Given the description of an element on the screen output the (x, y) to click on. 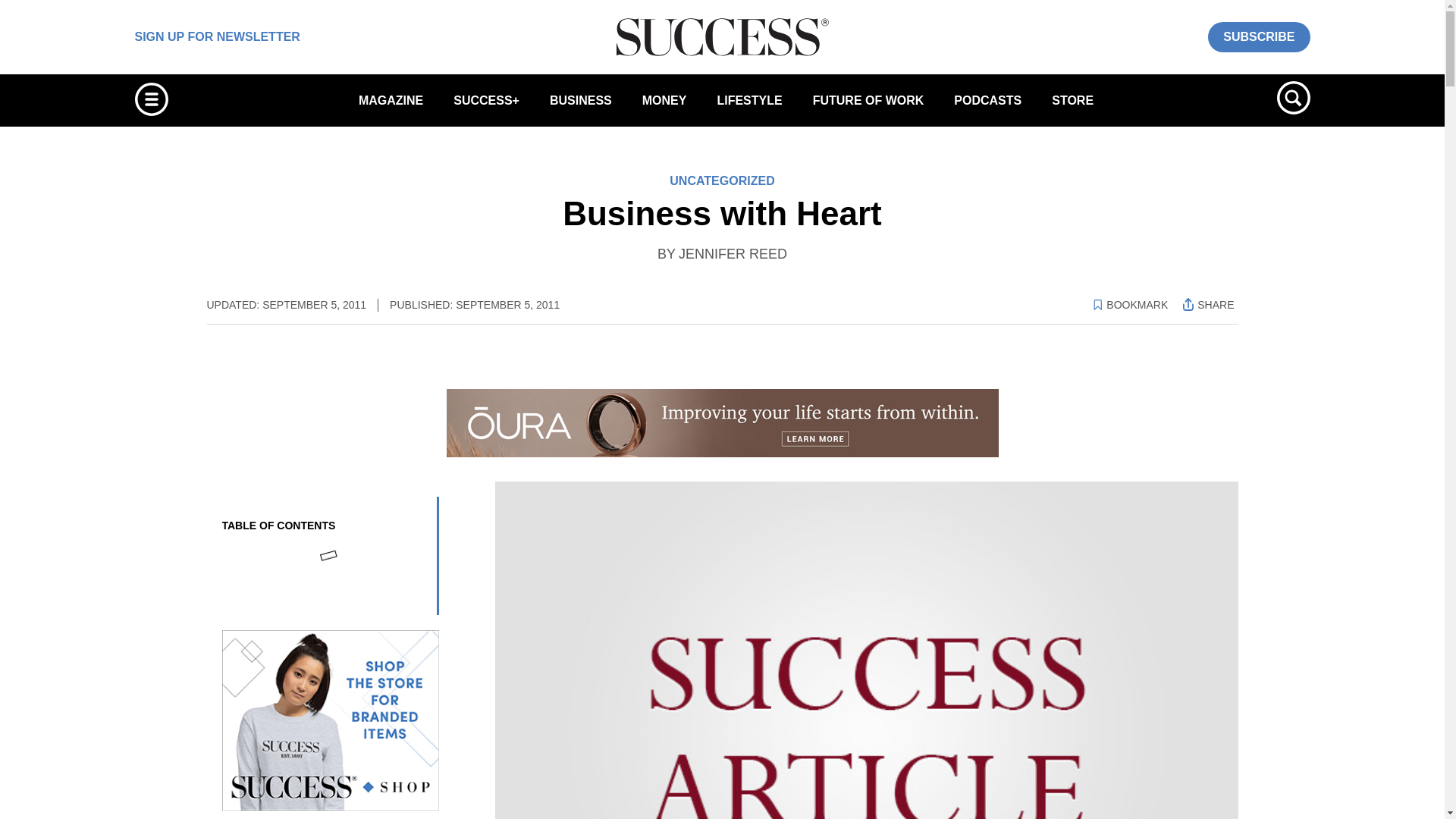
MAGAZINE (390, 100)
PODCASTS (987, 100)
STORE (1072, 100)
BUSINESS (580, 100)
SIGN UP FOR NEWSLETTER (217, 36)
MONEY (664, 100)
LIFESTYLE (748, 100)
FUTURE OF WORK (868, 100)
SUBSCRIBE (1258, 36)
